Given the description of an element on the screen output the (x, y) to click on. 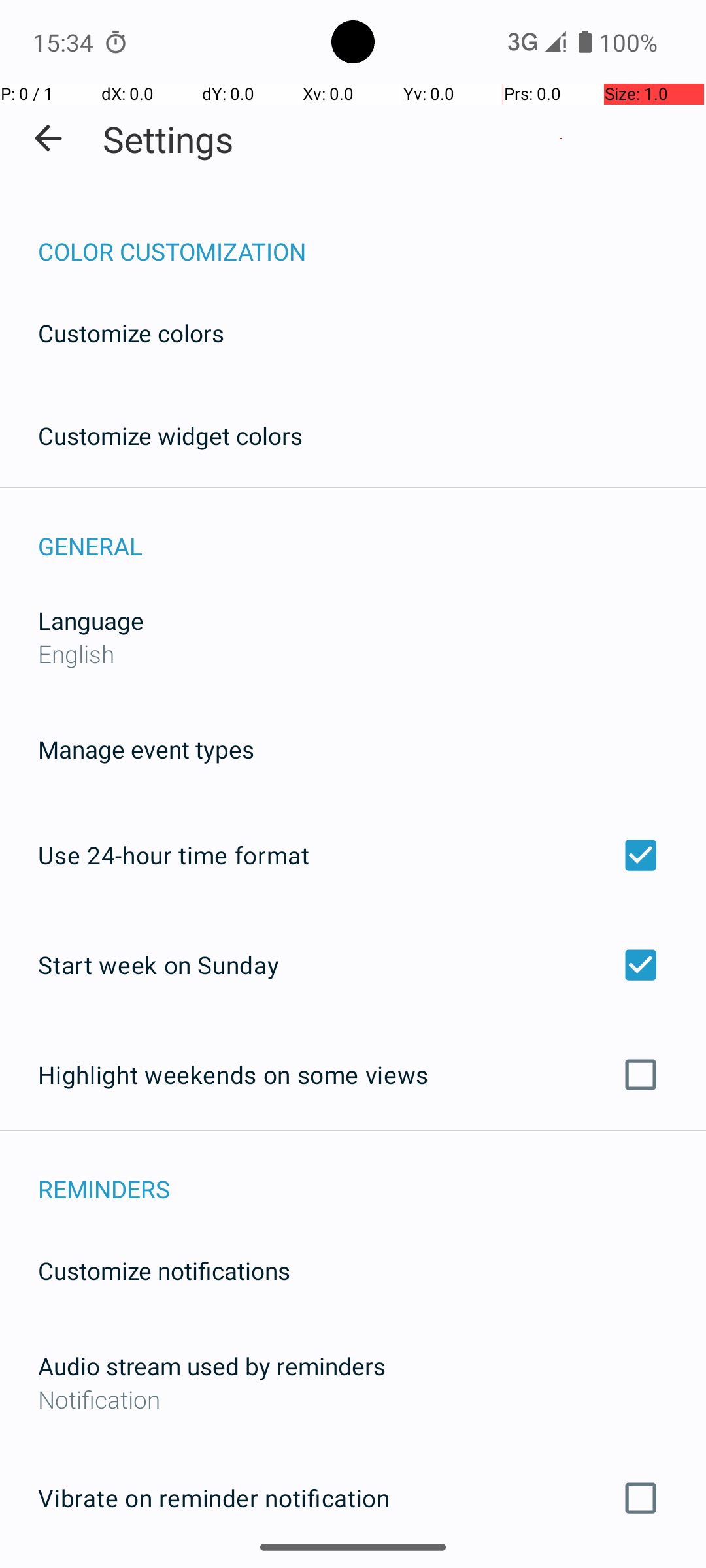
COLOR CUSTOMIZATION Element type: android.widget.TextView (371, 237)
GENERAL Element type: android.widget.TextView (371, 532)
REMINDERS Element type: android.widget.TextView (371, 1174)
Customize colors Element type: android.widget.TextView (130, 332)
Customize widget colors Element type: android.widget.TextView (170, 435)
Language Element type: android.widget.TextView (90, 620)
English Element type: android.widget.TextView (75, 653)
Manage event types Element type: android.widget.TextView (145, 748)
Use 24-hour time format Element type: android.widget.CheckBox (352, 855)
Start week on Sunday Element type: android.widget.CheckBox (352, 964)
Highlight weekends on some views Element type: android.widget.CheckBox (352, 1074)
Customize notifications Element type: android.widget.TextView (163, 1270)
Audio stream used by reminders Element type: android.widget.TextView (211, 1365)
Notification Element type: android.widget.TextView (352, 1398)
Vibrate on reminder notification Element type: android.widget.CheckBox (352, 1497)
Loop reminders until dismissed Element type: android.widget.CheckBox (352, 1567)
